Given the description of an element on the screen output the (x, y) to click on. 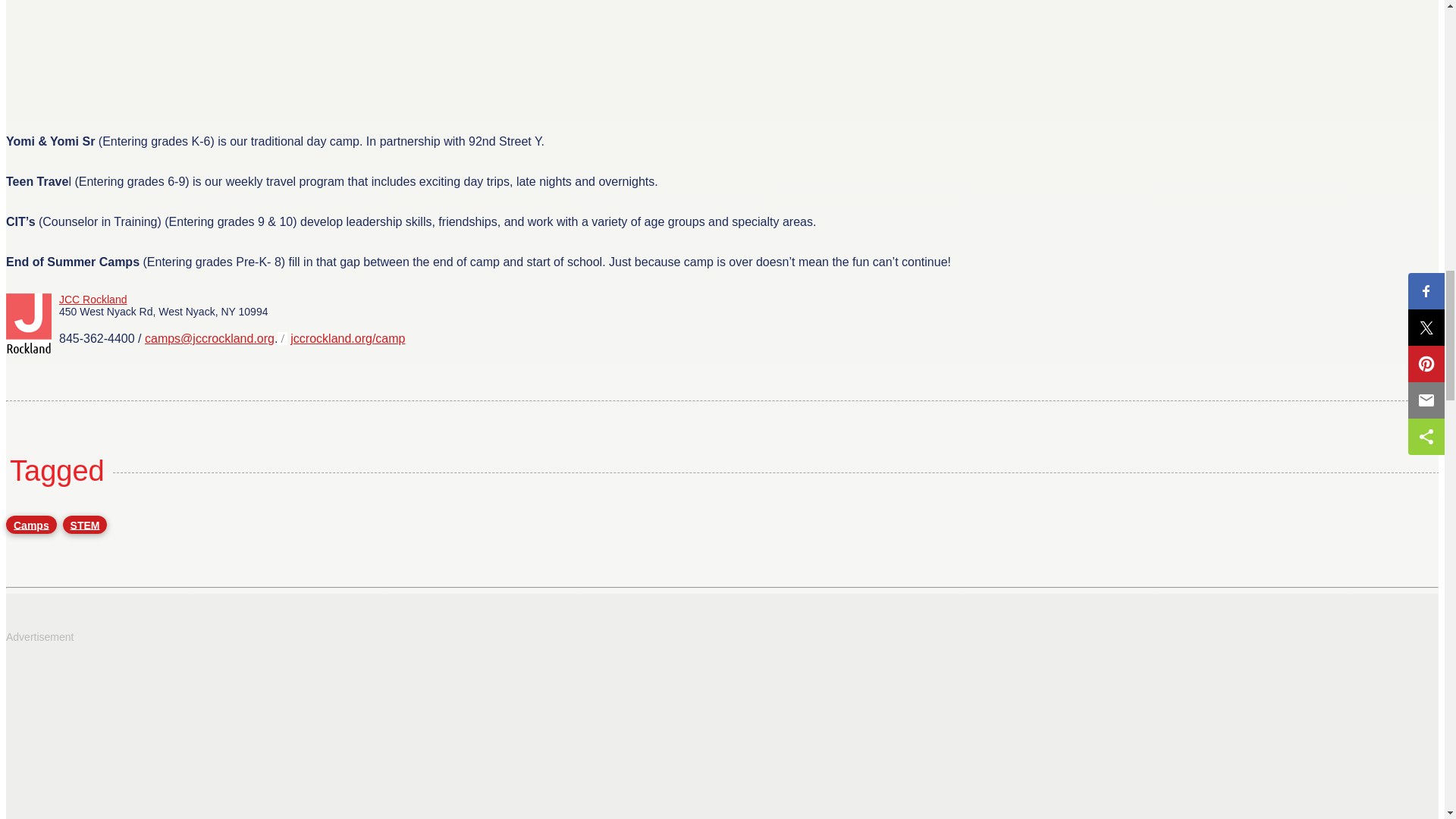
3rd party ad content (118, 31)
3rd party ad content (118, 736)
